Given the description of an element on the screen output the (x, y) to click on. 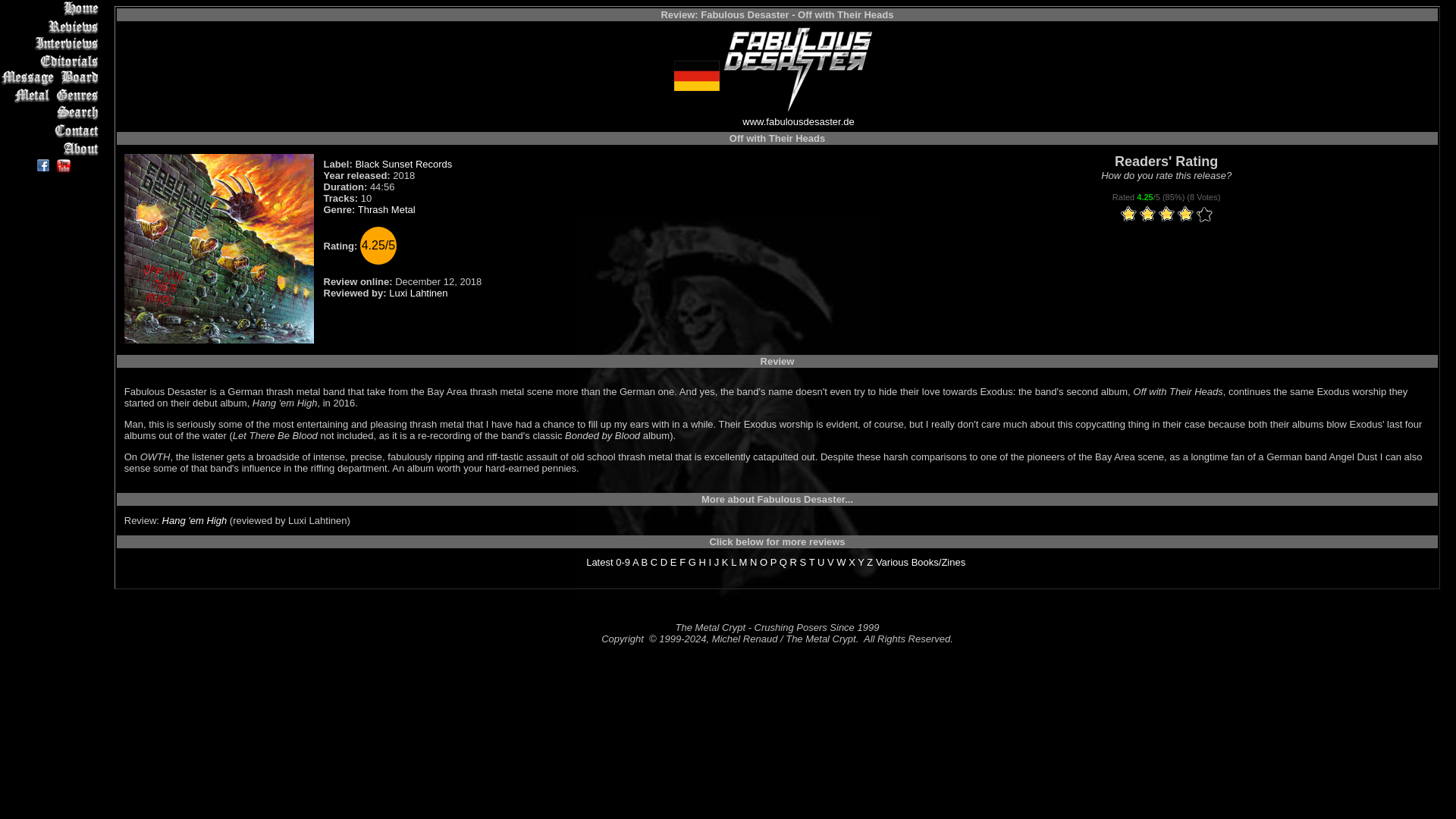
From: Germany - Click for more country information (696, 87)
Search (52, 113)
3 (1147, 214)
Metal Genres (52, 95)
4 (1157, 214)
The Metal Crypt's YouTube Channel (63, 165)
2 (1138, 214)
Discuss Metal and Other Stuff (52, 77)
0-9 (622, 562)
Interviews (52, 43)
